Given the description of an element on the screen output the (x, y) to click on. 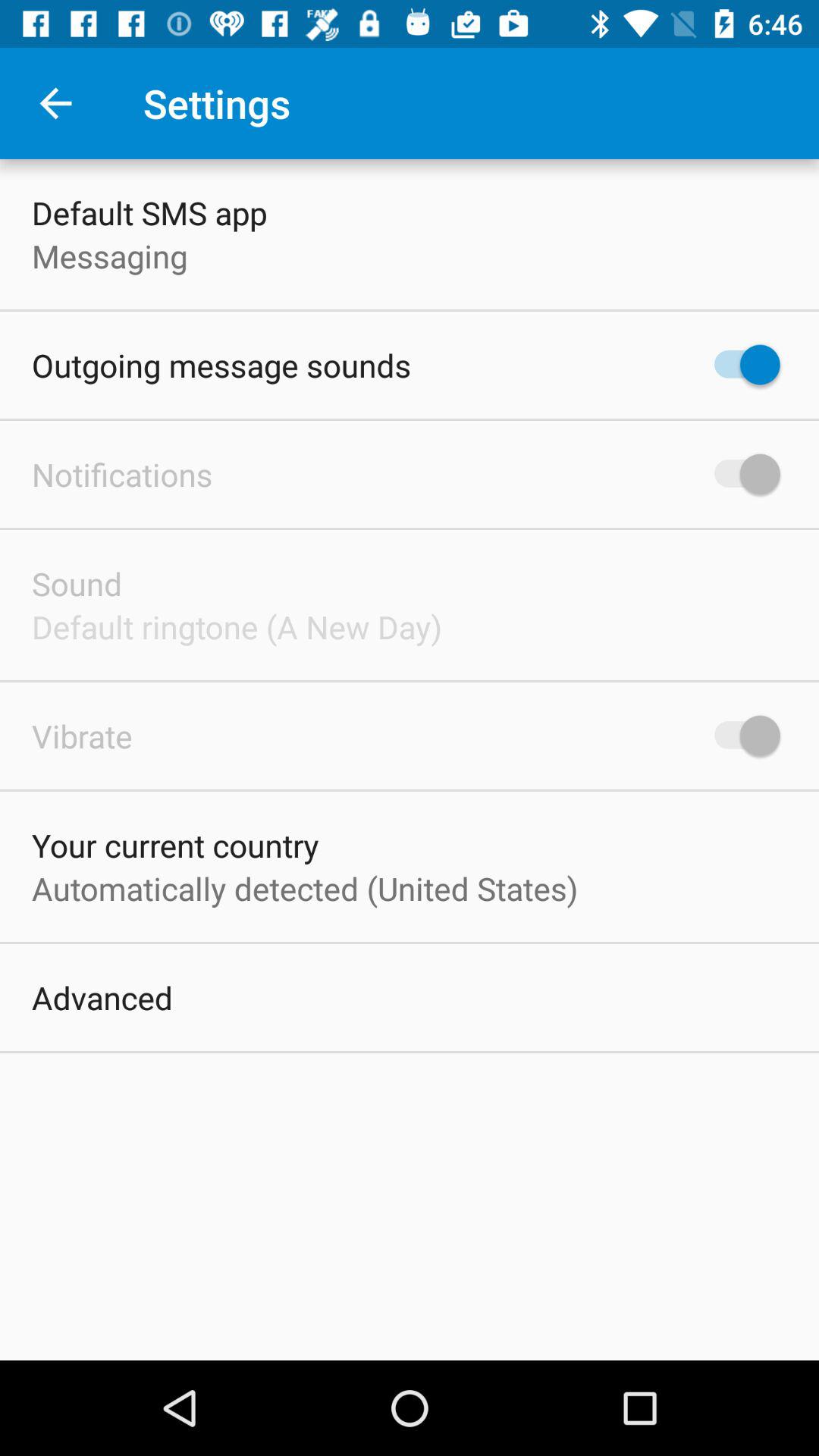
scroll to the default sms app (149, 212)
